Given the description of an element on the screen output the (x, y) to click on. 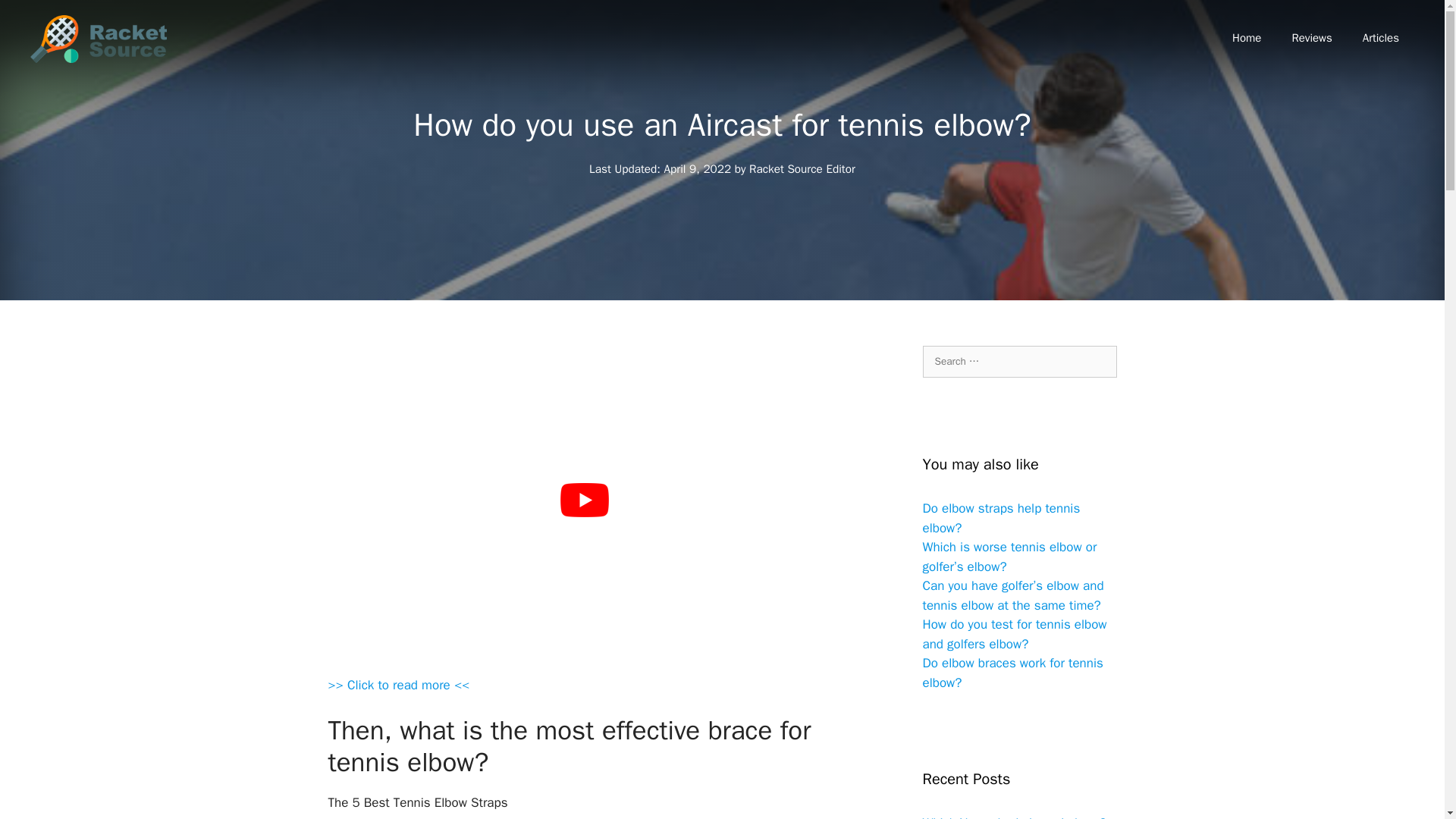
Search (35, 18)
Reviews (1311, 37)
How do you test for tennis elbow and golfers elbow? (1013, 633)
Articles (1380, 37)
Which Yonex badminton is best? (1013, 816)
Home (1246, 37)
Do elbow braces work for tennis elbow? (1011, 673)
How do you use an Aircast for tennis elbow? (397, 685)
Do elbow straps help tennis elbow? (1000, 518)
Racket Source (98, 37)
Racket Source (98, 39)
